Given the description of an element on the screen output the (x, y) to click on. 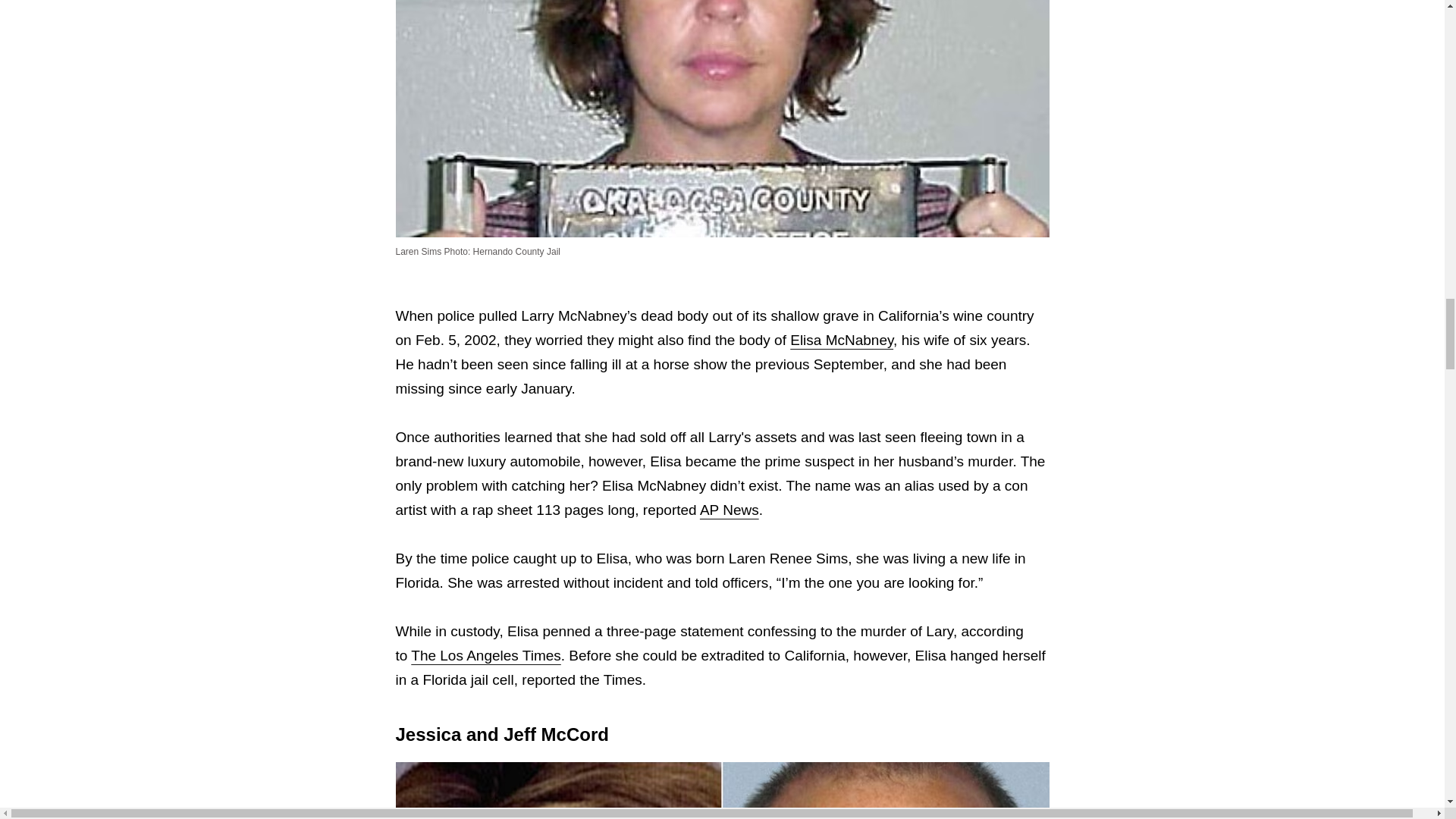
AP News (729, 509)
Elisa McNabney (841, 340)
The Los Angeles Times (485, 655)
